Given the description of an element on the screen output the (x, y) to click on. 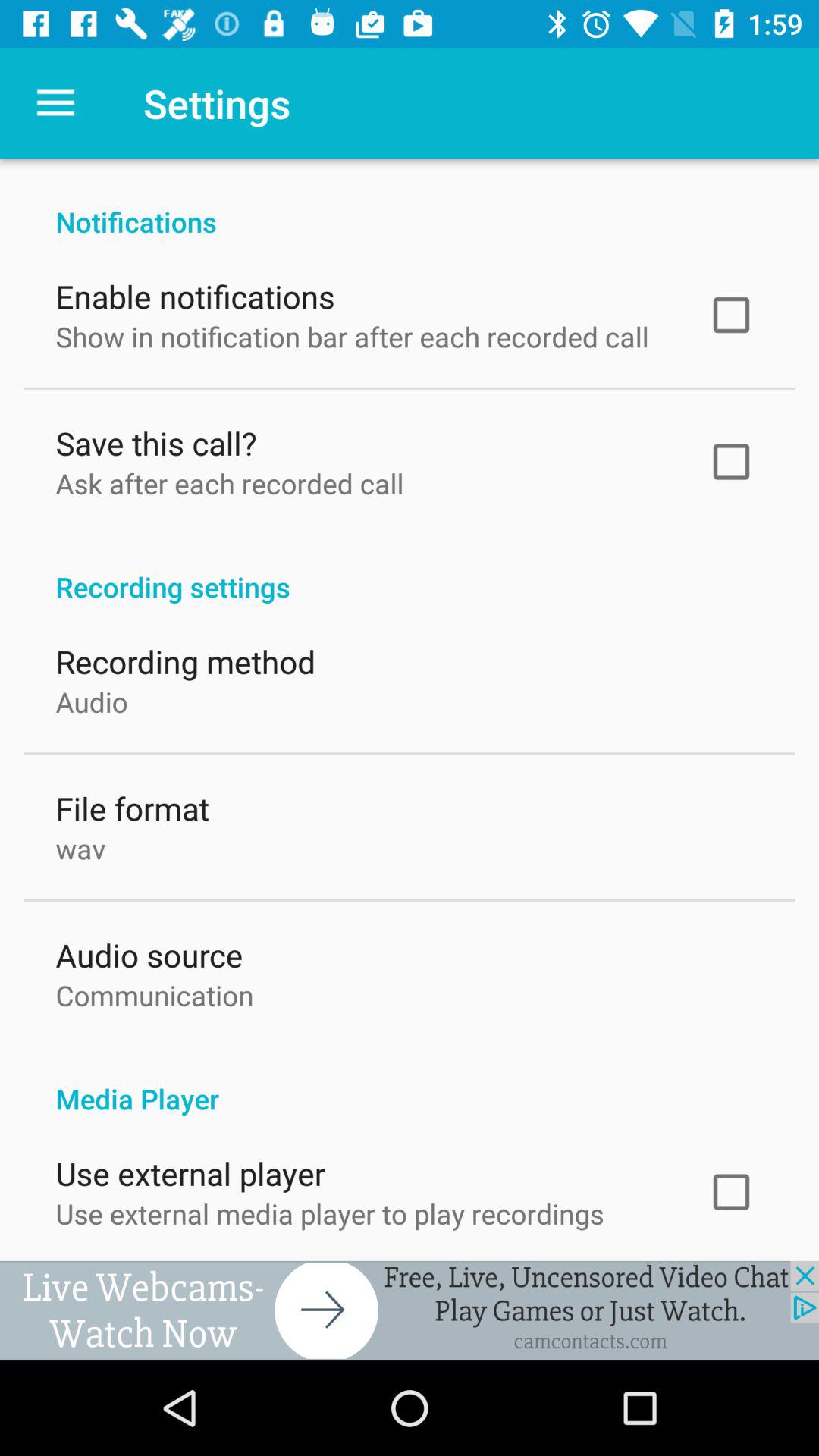
advertisement link (409, 1310)
